Given the description of an element on the screen output the (x, y) to click on. 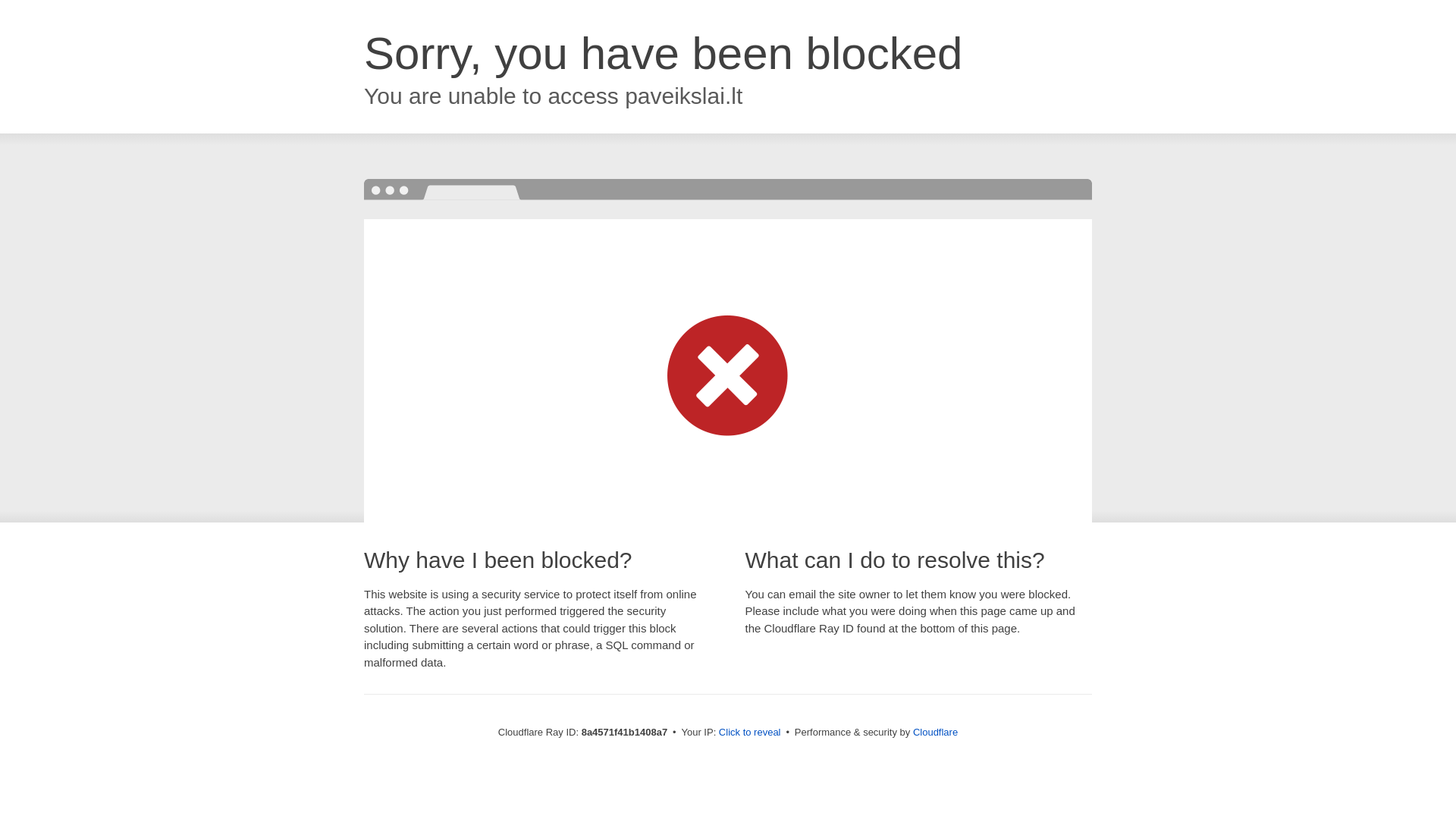
Cloudflare (935, 731)
Click to reveal (749, 732)
